Given the description of an element on the screen output the (x, y) to click on. 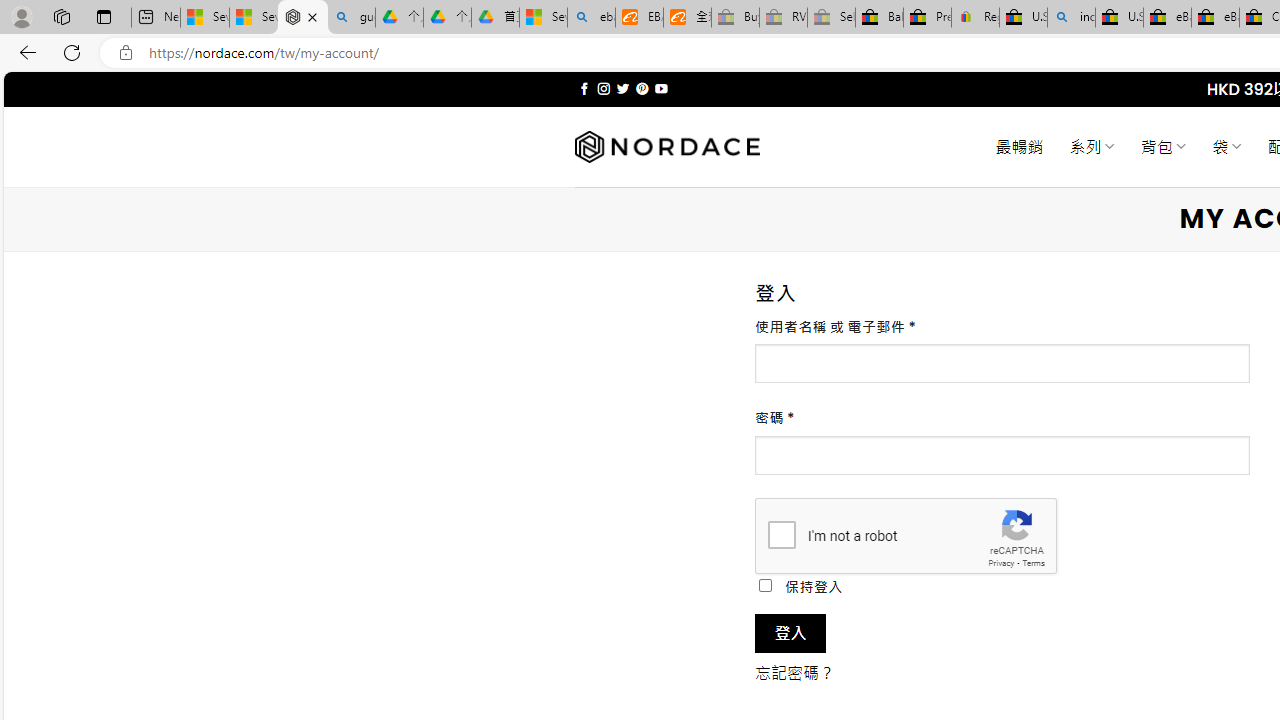
U.S. State Privacy Disclosures - eBay Inc. (1119, 17)
Follow on Twitter (621, 88)
I'm not a robot (782, 533)
eBay Inc. Reports Third Quarter 2023 Results (1215, 17)
